Given the description of an element on the screen output the (x, y) to click on. 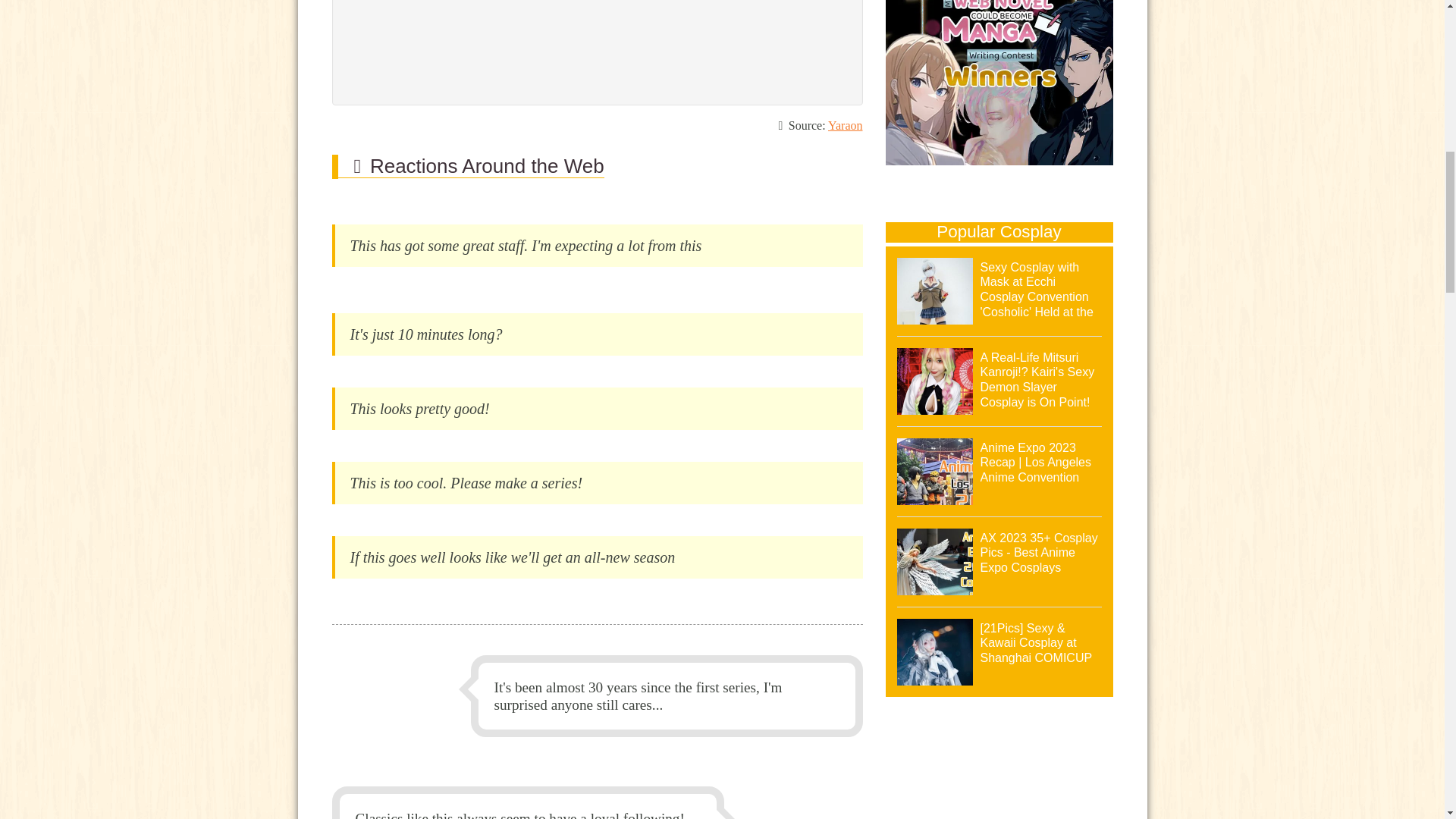
banner-honeyfeed-malcontest (999, 85)
Yaraon (844, 124)
